Given the description of an element on the screen output the (x, y) to click on. 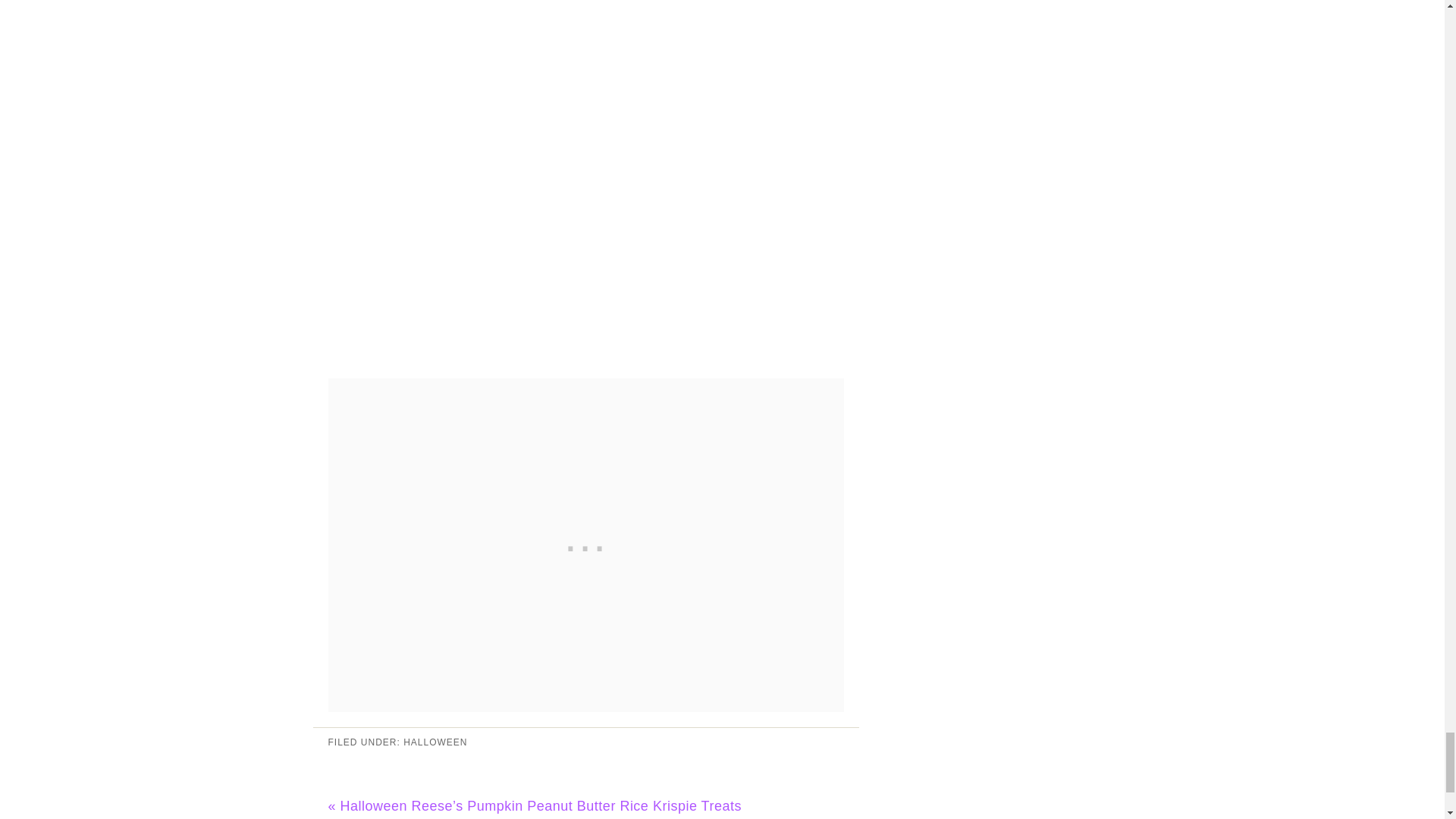
HALLOWEEN (435, 742)
